Given the description of an element on the screen output the (x, y) to click on. 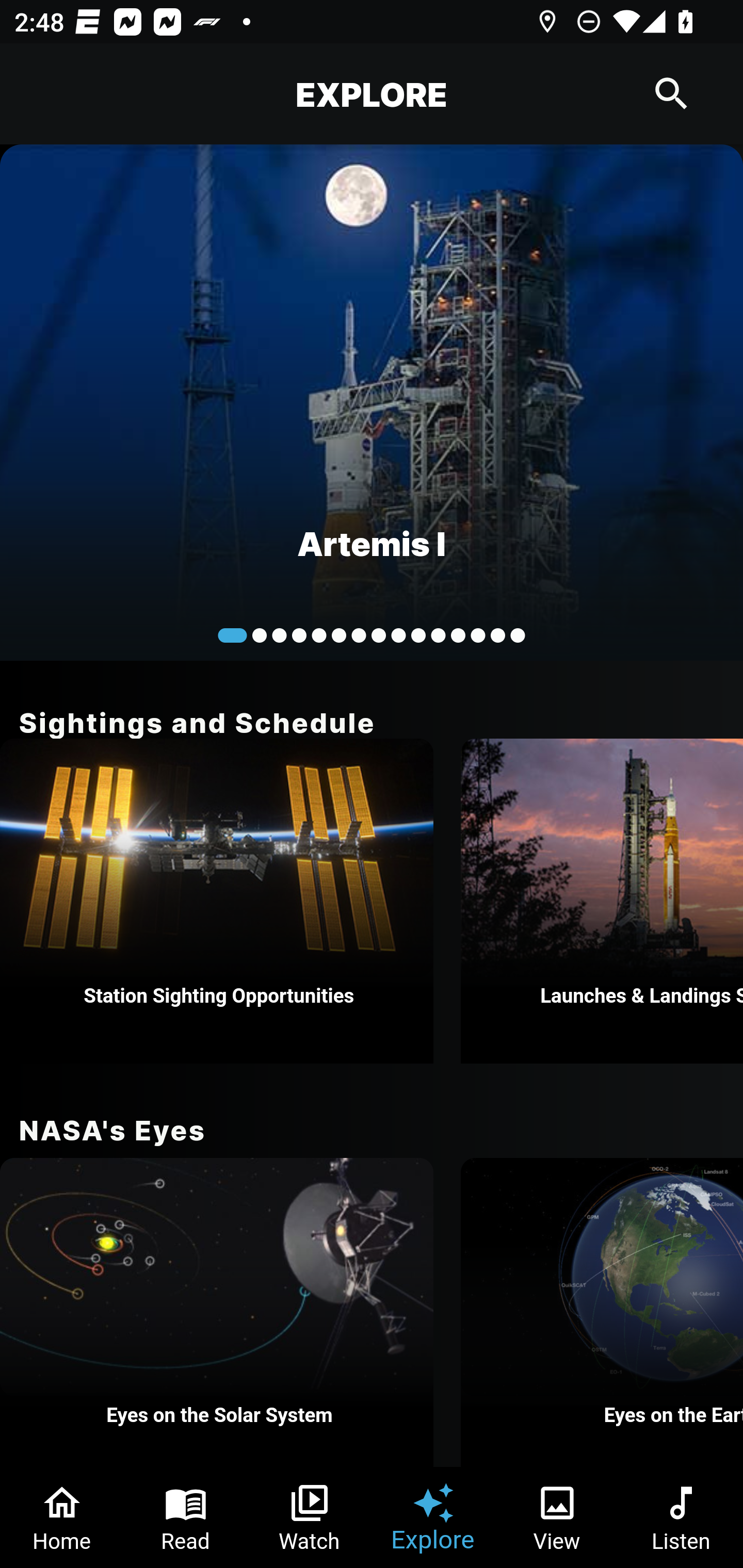
Artemis I
Hello World (371, 402)
Station Sighting Opportunities (216, 900)
Launches & Landings Schedule (601, 900)
Eyes on the Solar System (216, 1312)
Eyes on the Earth (601, 1312)
Home
Tab 1 of 6 (62, 1517)
Read
Tab 2 of 6 (185, 1517)
Watch
Tab 3 of 6 (309, 1517)
Explore
Tab 4 of 6 (433, 1517)
View
Tab 5 of 6 (556, 1517)
Listen
Tab 6 of 6 (680, 1517)
